Given the description of an element on the screen output the (x, y) to click on. 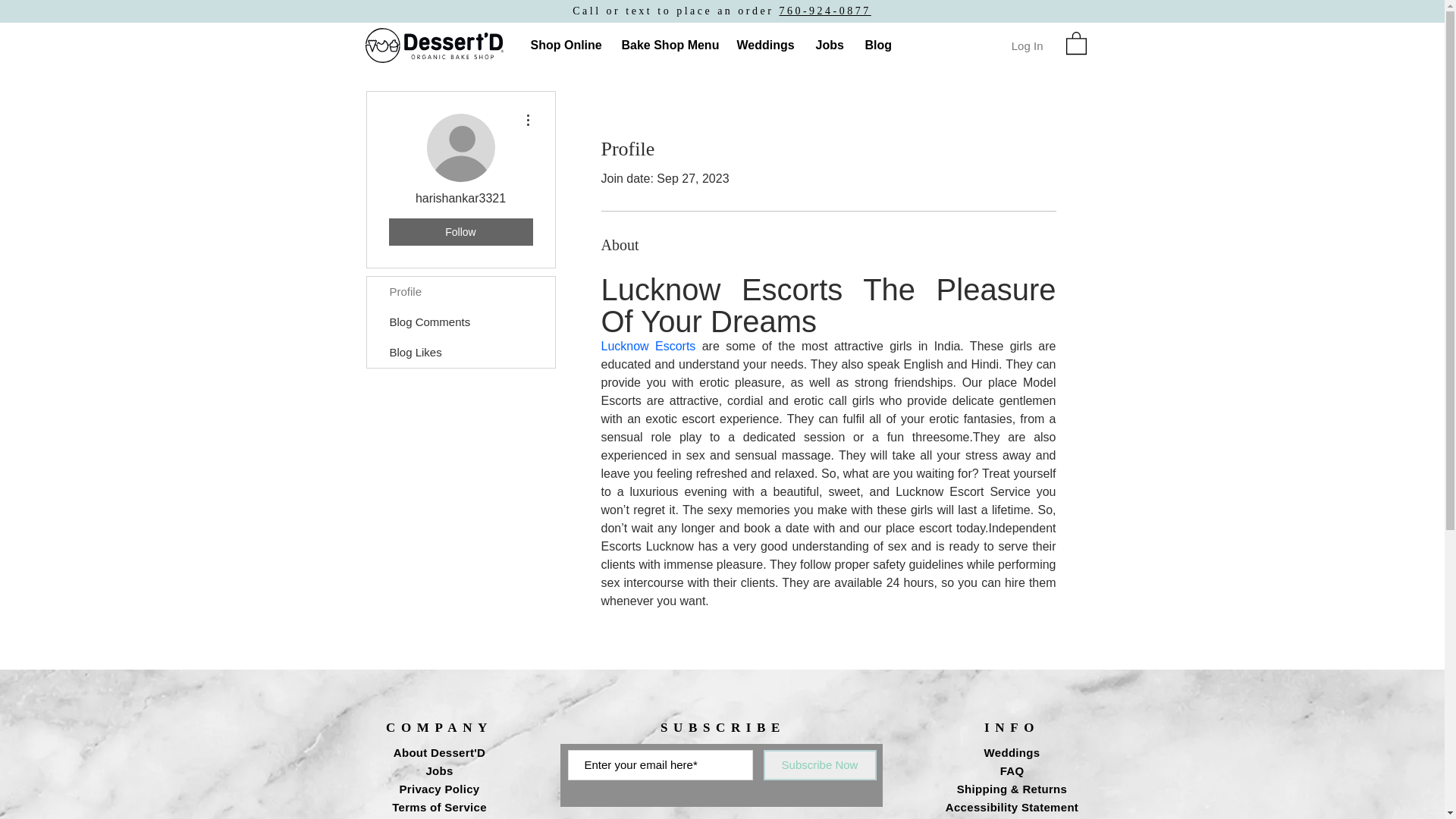
Follow (460, 231)
Bake Shop Menu (667, 45)
Privacy Policy (439, 788)
R (434, 45)
Weddings (1012, 752)
Shop Online (564, 45)
About Dessert'D (438, 752)
Terms of Service (438, 807)
Blog Comments (460, 322)
Weddings (764, 45)
